Given the description of an element on the screen output the (x, y) to click on. 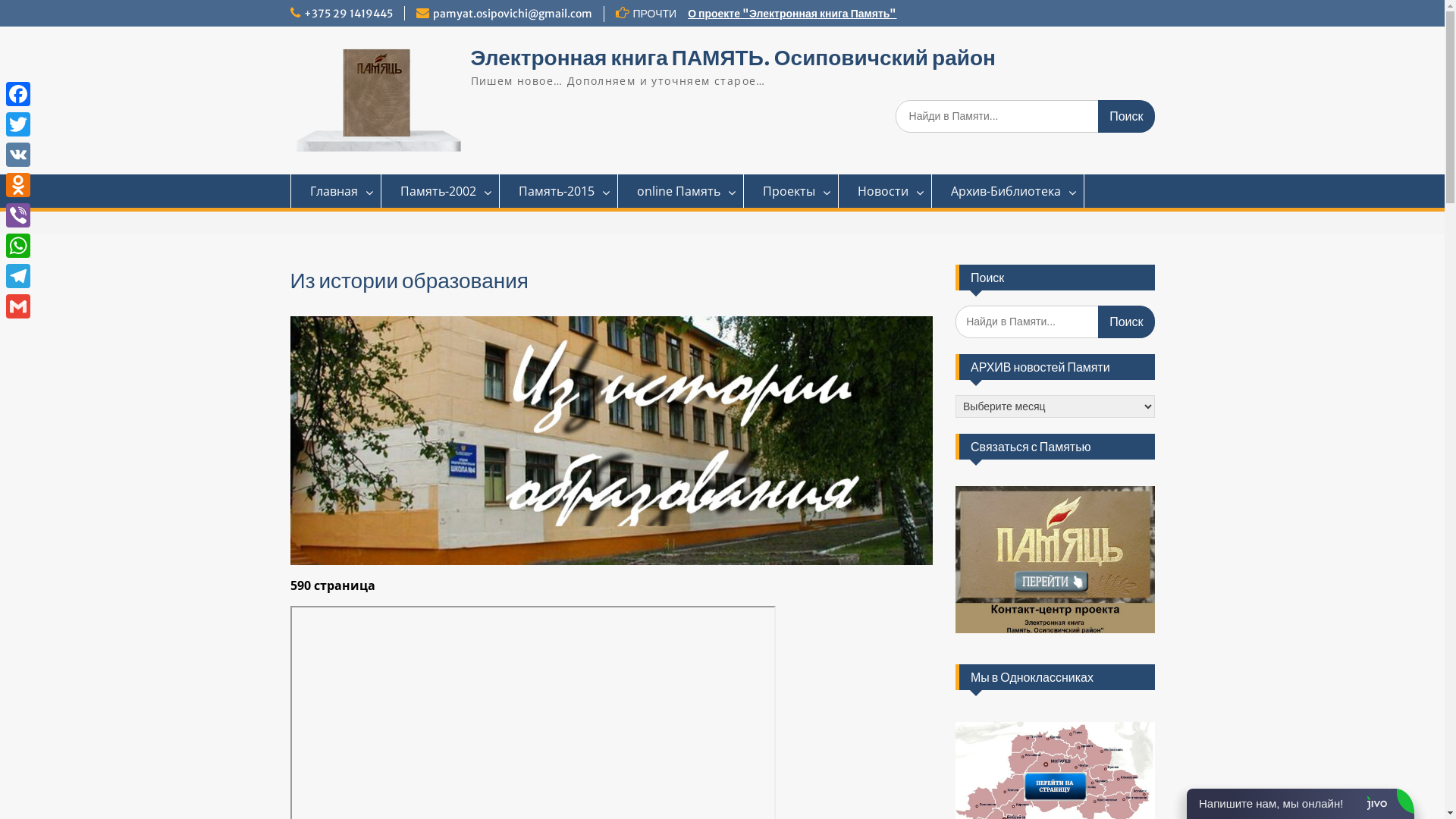
Gmail Element type: text (18, 306)
VK Element type: text (18, 154)
Twitter Element type: text (18, 124)
Telegram Element type: text (18, 275)
+375 29 1419445 Element type: text (347, 13)
Odnoklassniki Element type: text (18, 184)
pamyat.osipovichi@gmail.com Element type: text (511, 13)
WhatsApp Element type: text (18, 245)
Viber Element type: text (18, 215)
Facebook Element type: text (18, 93)
